Given the description of an element on the screen output the (x, y) to click on. 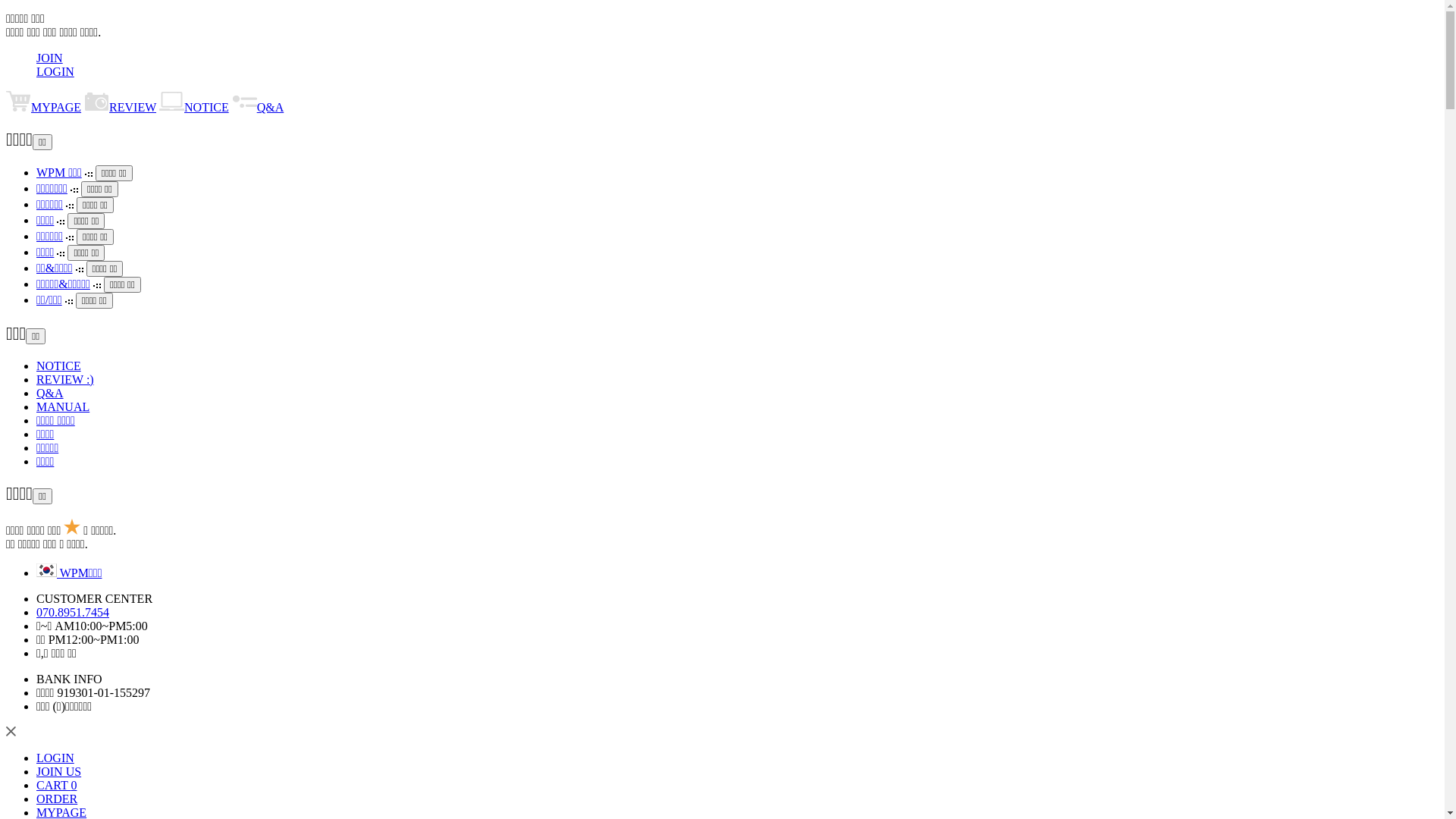
CART 0 Element type: text (56, 784)
REVIEW :) Element type: text (65, 379)
REVIEW Element type: text (120, 106)
NOTICE Element type: text (194, 106)
MYPAGE Element type: text (43, 106)
JOIN US Element type: text (58, 771)
Q&A Element type: text (49, 392)
LOGIN Element type: text (55, 71)
070.8951.7454 Element type: text (72, 611)
LOGIN Element type: text (55, 757)
JOIN Element type: text (49, 57)
Q&A Element type: text (258, 106)
NOTICE Element type: text (58, 365)
ORDER Element type: text (56, 798)
MANUAL Element type: text (62, 406)
